Given the description of an element on the screen output the (x, y) to click on. 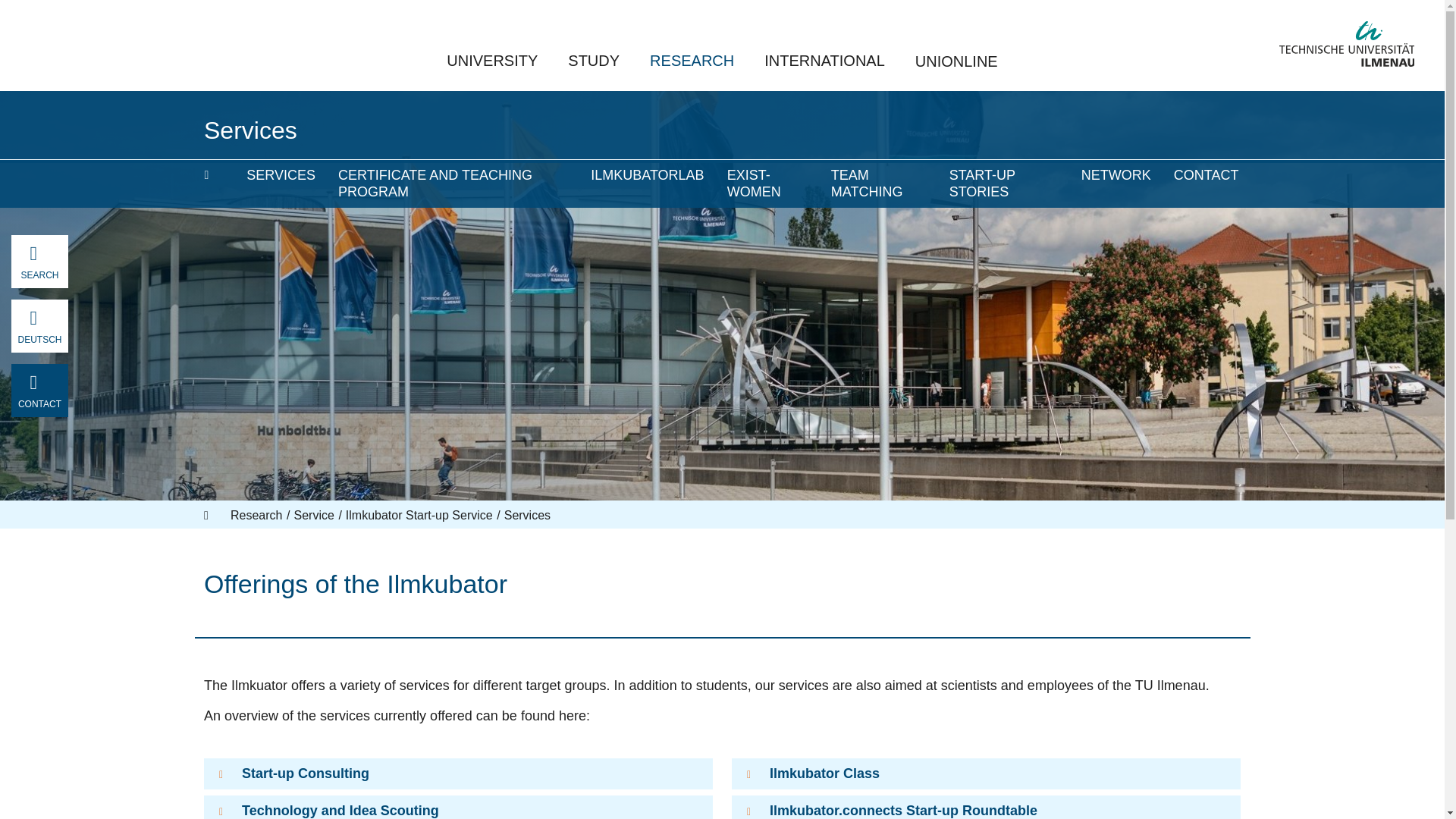
Opens menu: University (491, 60)
UNIVERSITY (491, 60)
